Given the description of an element on the screen output the (x, y) to click on. 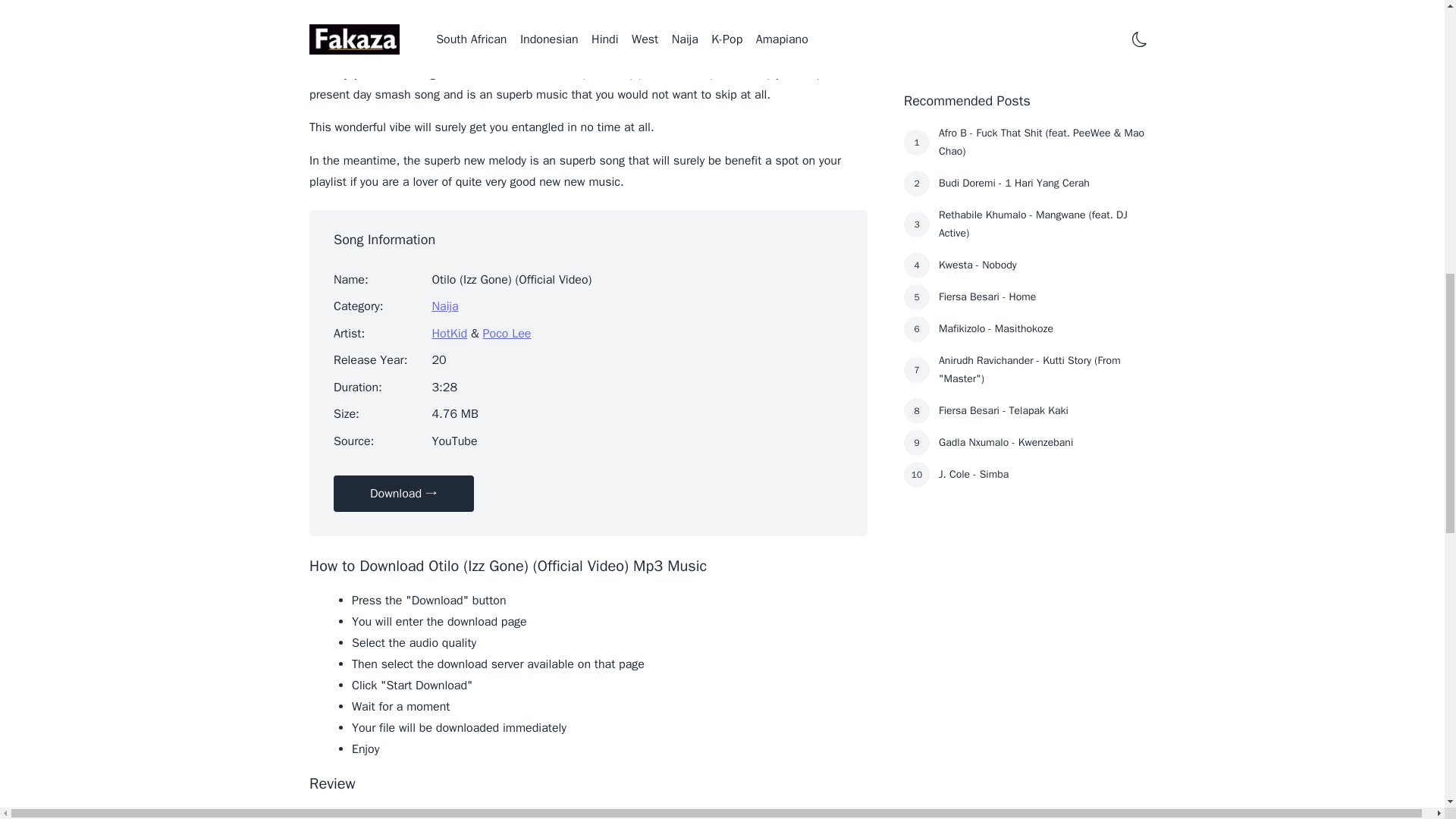
Poco Lee (507, 333)
HotKid (448, 333)
Naija (444, 305)
